Given the description of an element on the screen output the (x, y) to click on. 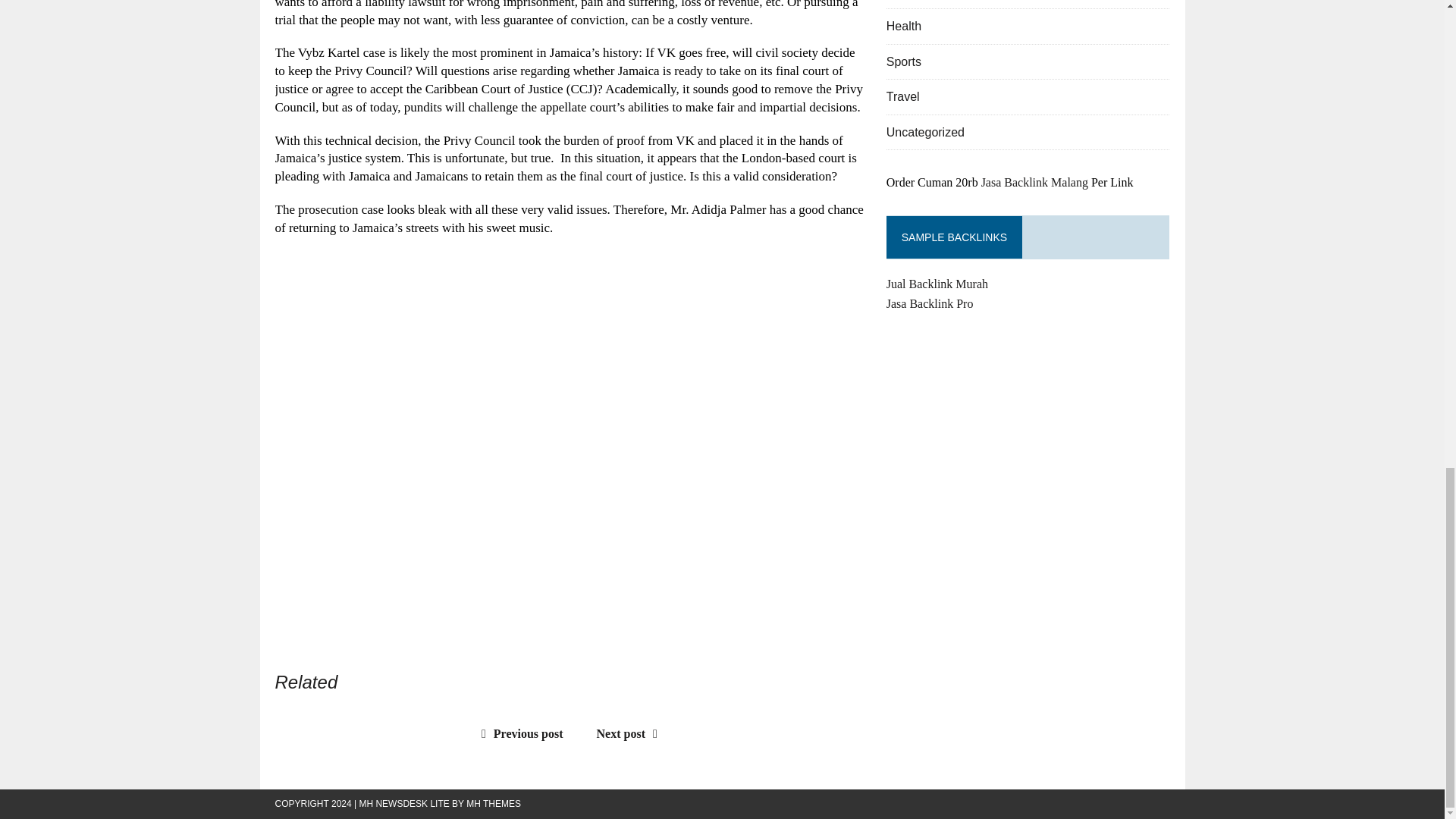
Next post (630, 733)
Previous post (518, 733)
